Given the description of an element on the screen output the (x, y) to click on. 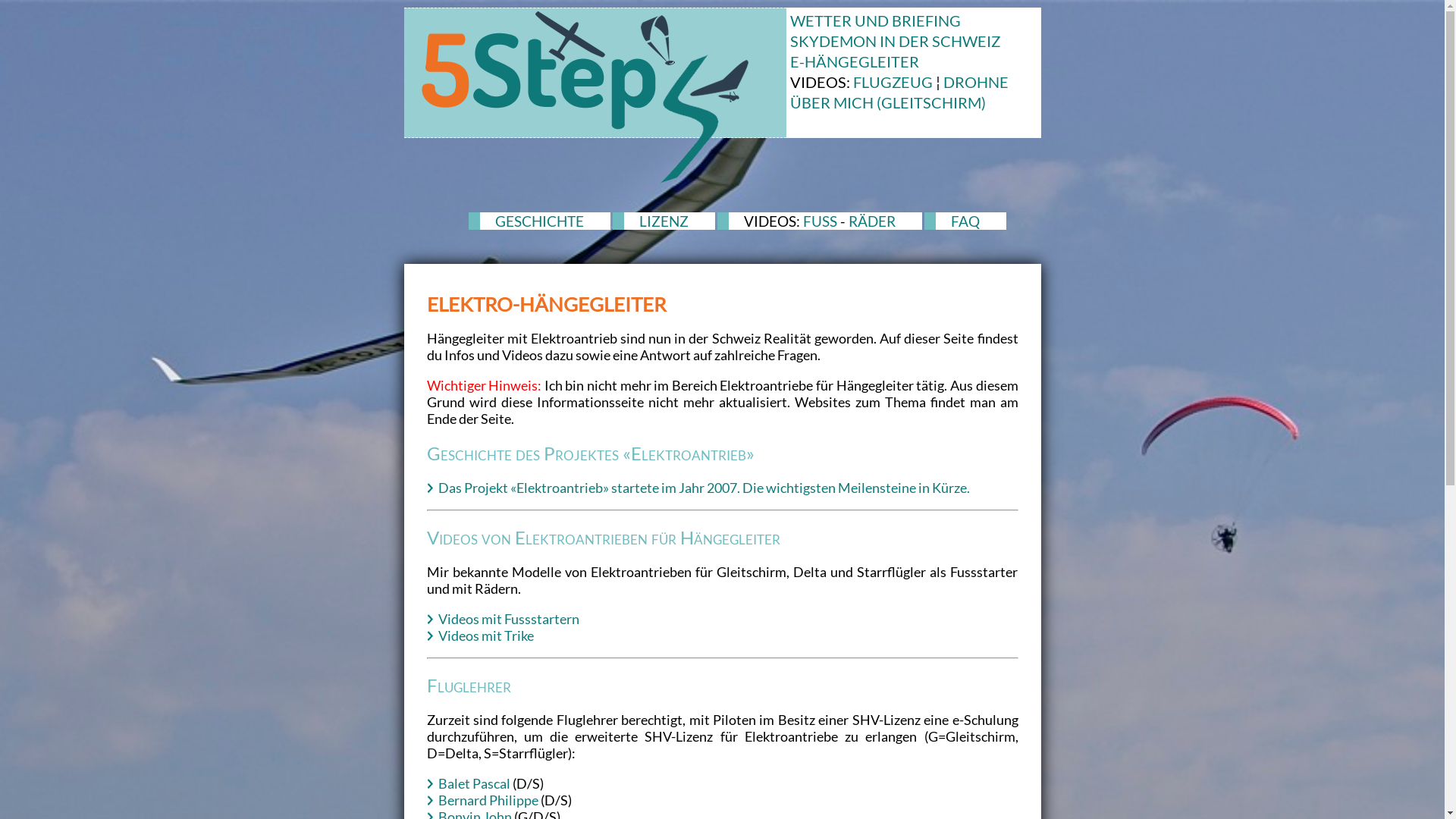
WETTER UND BRIEFING Element type: text (875, 20)
Bernard Philippe Element type: text (488, 799)
FAQ Element type: text (964, 220)
FLUGZEUG Element type: text (891, 81)
Videos mit Fussstartern Element type: text (508, 618)
Videos mit Trike Element type: text (485, 635)
SKYDEMON IN DER SCHWEIZ Element type: text (895, 40)
LIZENZ Element type: text (663, 220)
Balet Pascal Element type: text (474, 783)
DROHNE Element type: text (975, 81)
GESCHICHTE Element type: text (539, 220)
FUSS Element type: text (820, 220)
